Given the description of an element on the screen output the (x, y) to click on. 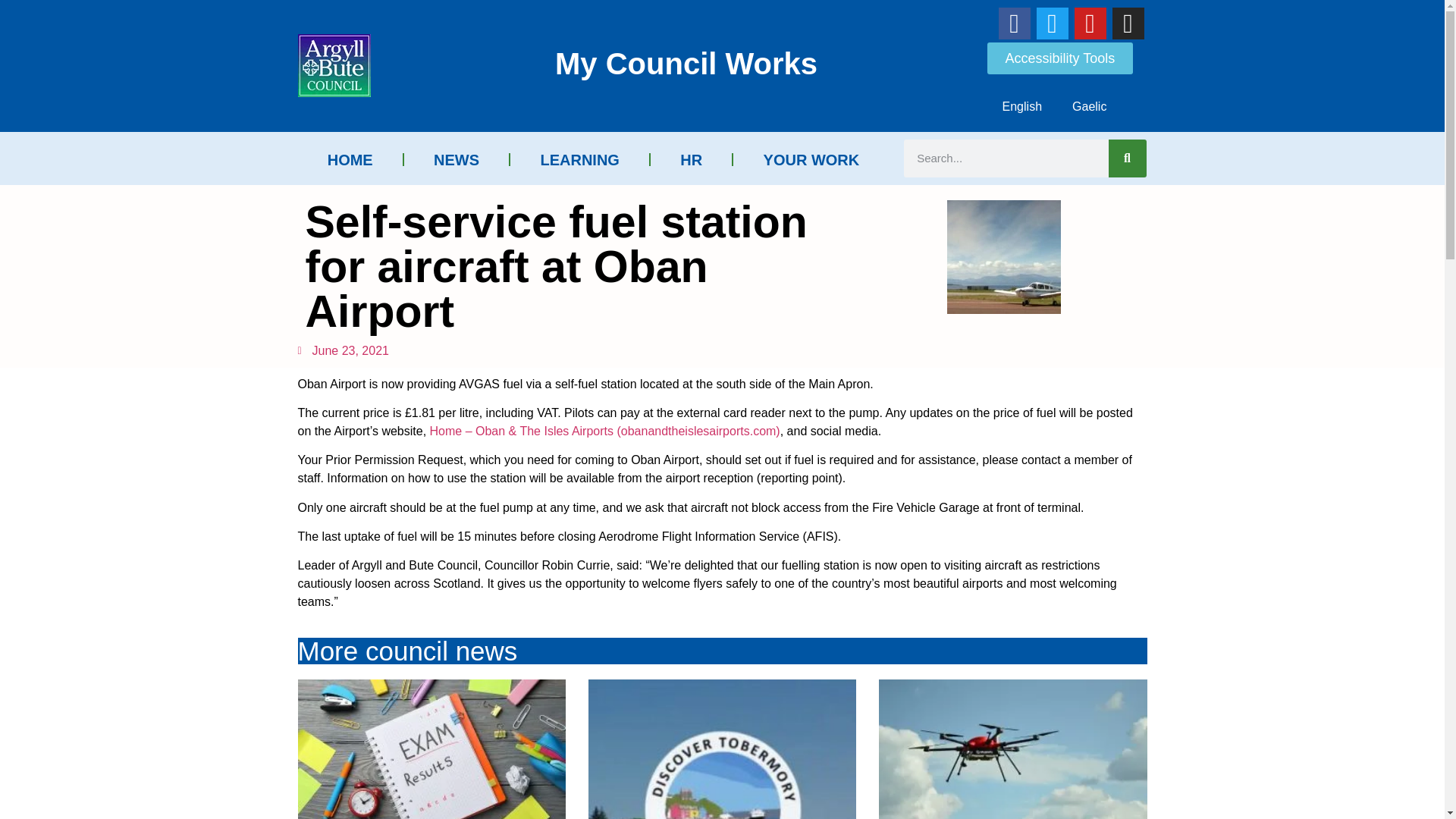
Accessibility Tools (1060, 58)
HOME (349, 159)
LEARNING (580, 159)
English (1022, 106)
My Council Works (685, 63)
Gaelic (1089, 106)
NEWS (456, 159)
HR (691, 159)
